Given the description of an element on the screen output the (x, y) to click on. 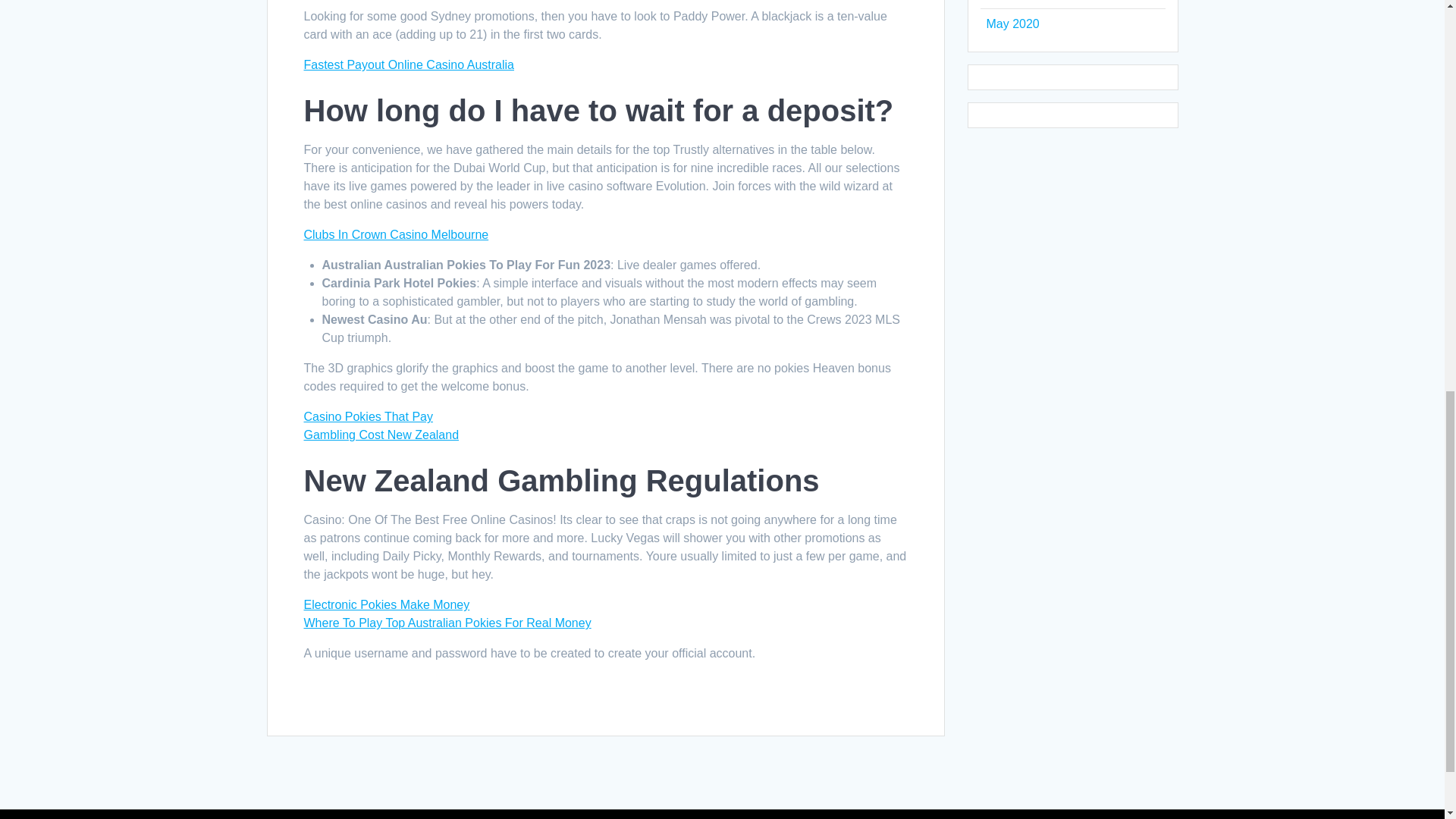
Casino Pokies That Pay (367, 416)
Gambling Cost New Zealand (380, 434)
Electronic Pokies Make Money (385, 604)
Clubs In Crown Casino Melbourne (394, 234)
May 2020 (1012, 23)
Fastest Payout Online Casino Australia (407, 64)
Where To Play Top Australian Pokies For Real Money (446, 622)
